Given the description of an element on the screen output the (x, y) to click on. 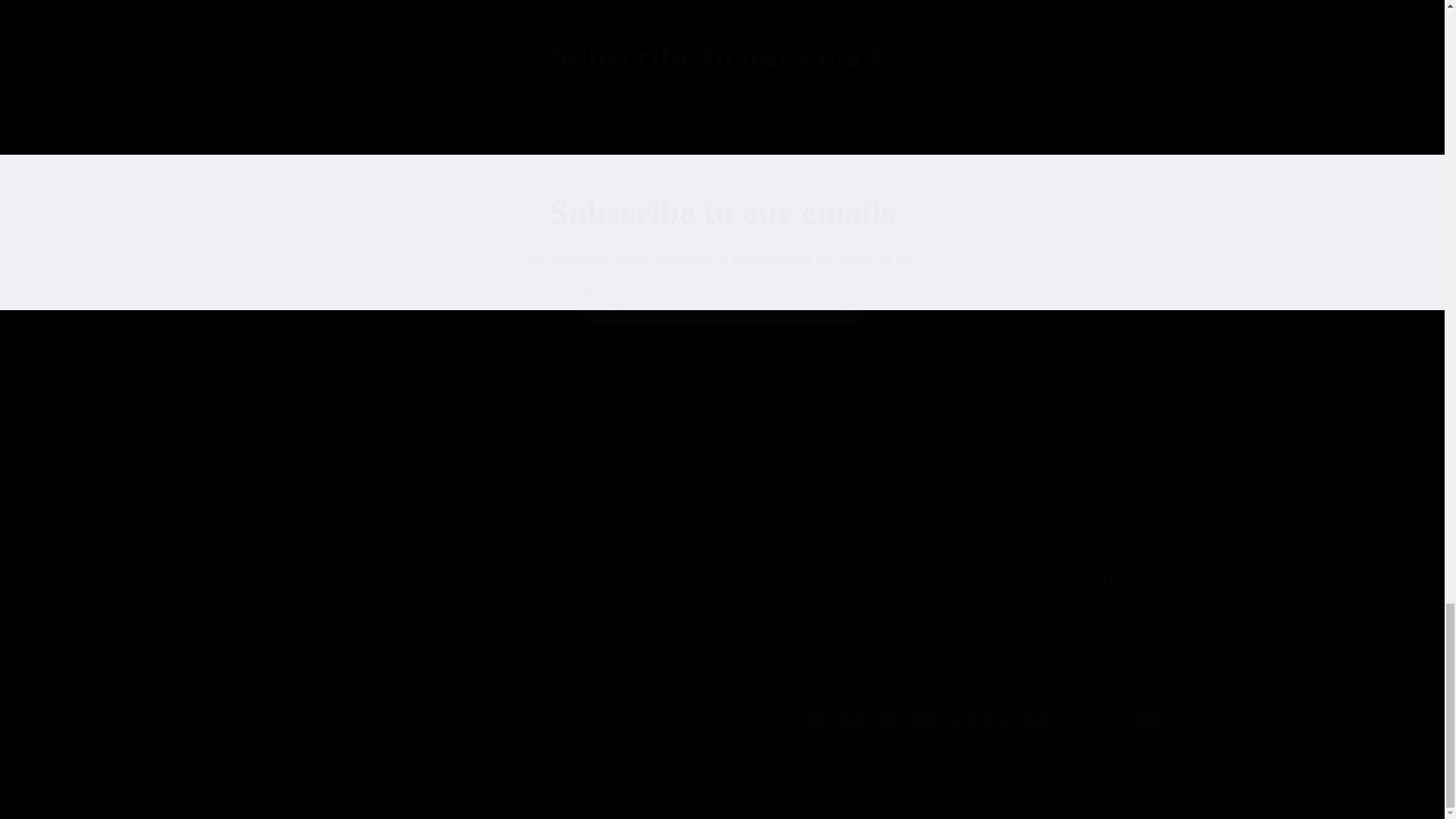
Subscribe to our emails (722, 213)
Email (722, 307)
Email (721, 584)
Subscribe to our emails (722, 150)
